Given the description of an element on the screen output the (x, y) to click on. 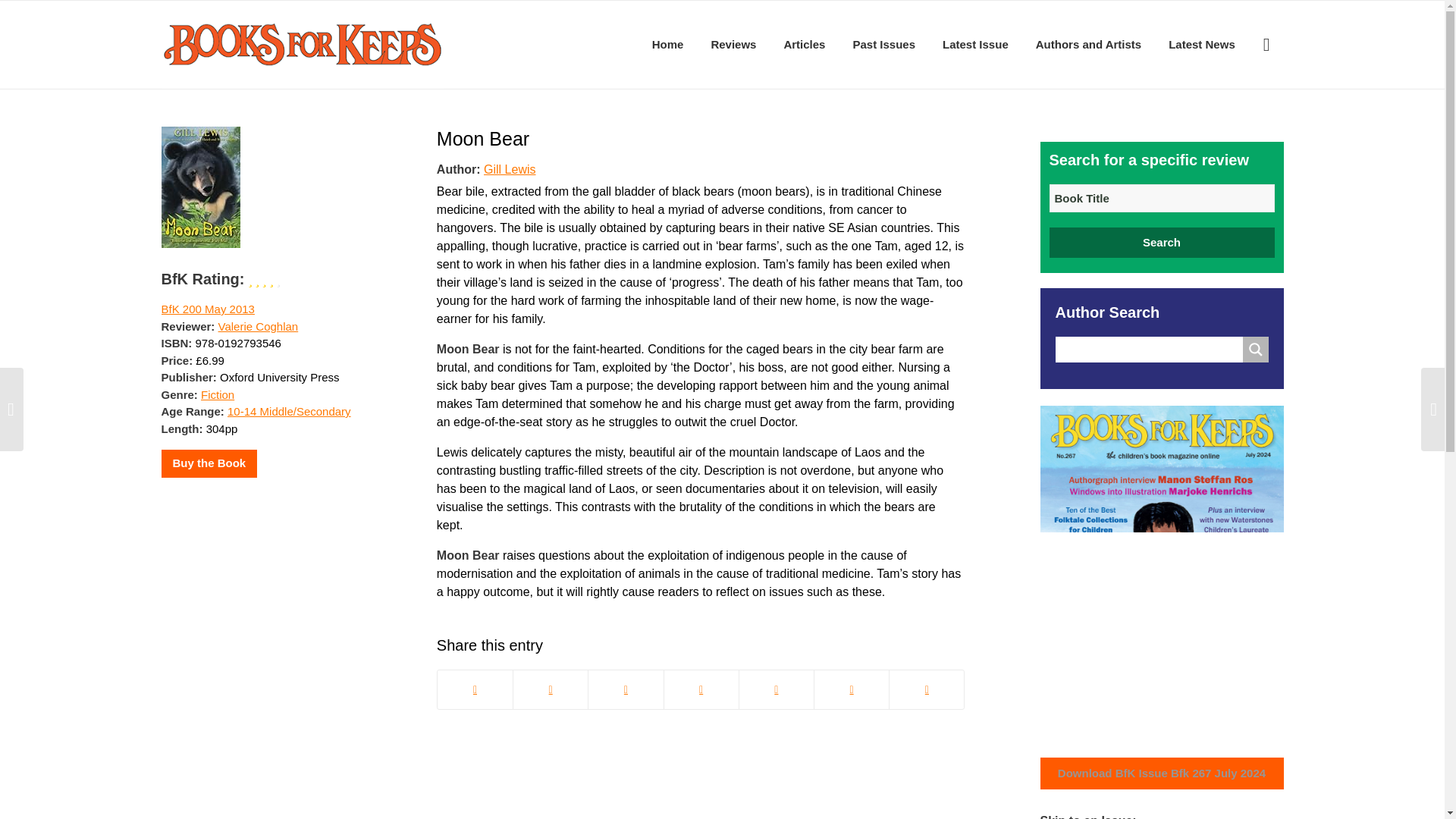
Valerie Coghlan (258, 326)
Gill Lewis (509, 168)
Authors and Artists (1088, 44)
Fiction (217, 394)
Search (1162, 242)
Download BfK Issue Bfk 267 July 2024 (1162, 773)
Moon Bear (482, 138)
Past Issues (883, 44)
Latest News (1201, 44)
Buy the Book (208, 463)
